Given the description of an element on the screen output the (x, y) to click on. 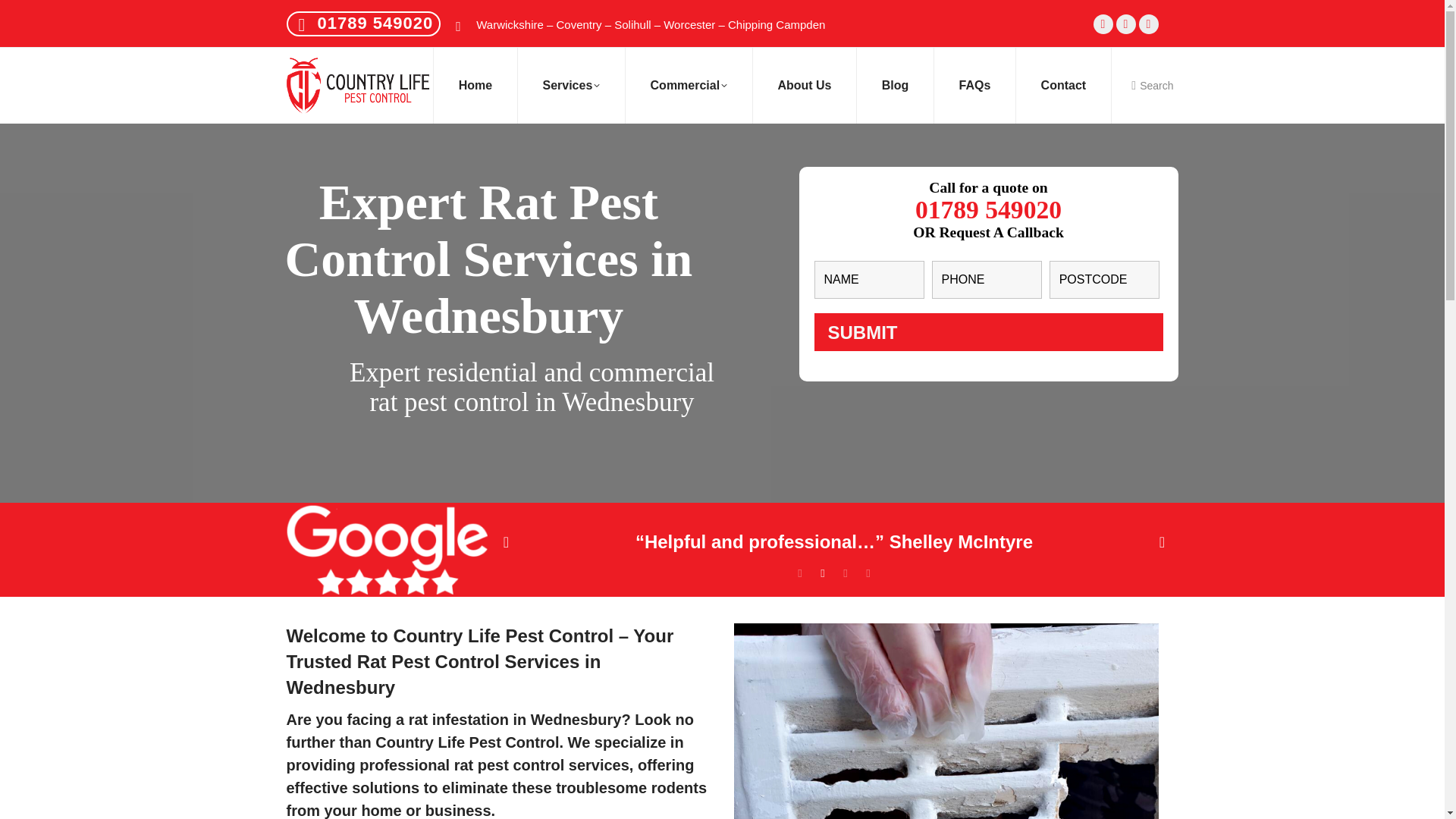
Facebook page opens in new window (1103, 23)
Home (475, 85)
Contact (1062, 85)
01789 549020 (374, 22)
Linkedin page opens in new window (1148, 23)
FAQs (973, 85)
Linkedin page opens in new window (1148, 23)
Blog (895, 85)
Commercial (688, 85)
Services (570, 85)
Instagram page opens in new window (1125, 23)
Instagram page opens in new window (1125, 23)
Facebook page opens in new window (1103, 23)
SUBMIT (988, 331)
Rat hole in vent (945, 721)
